Given the description of an element on the screen output the (x, y) to click on. 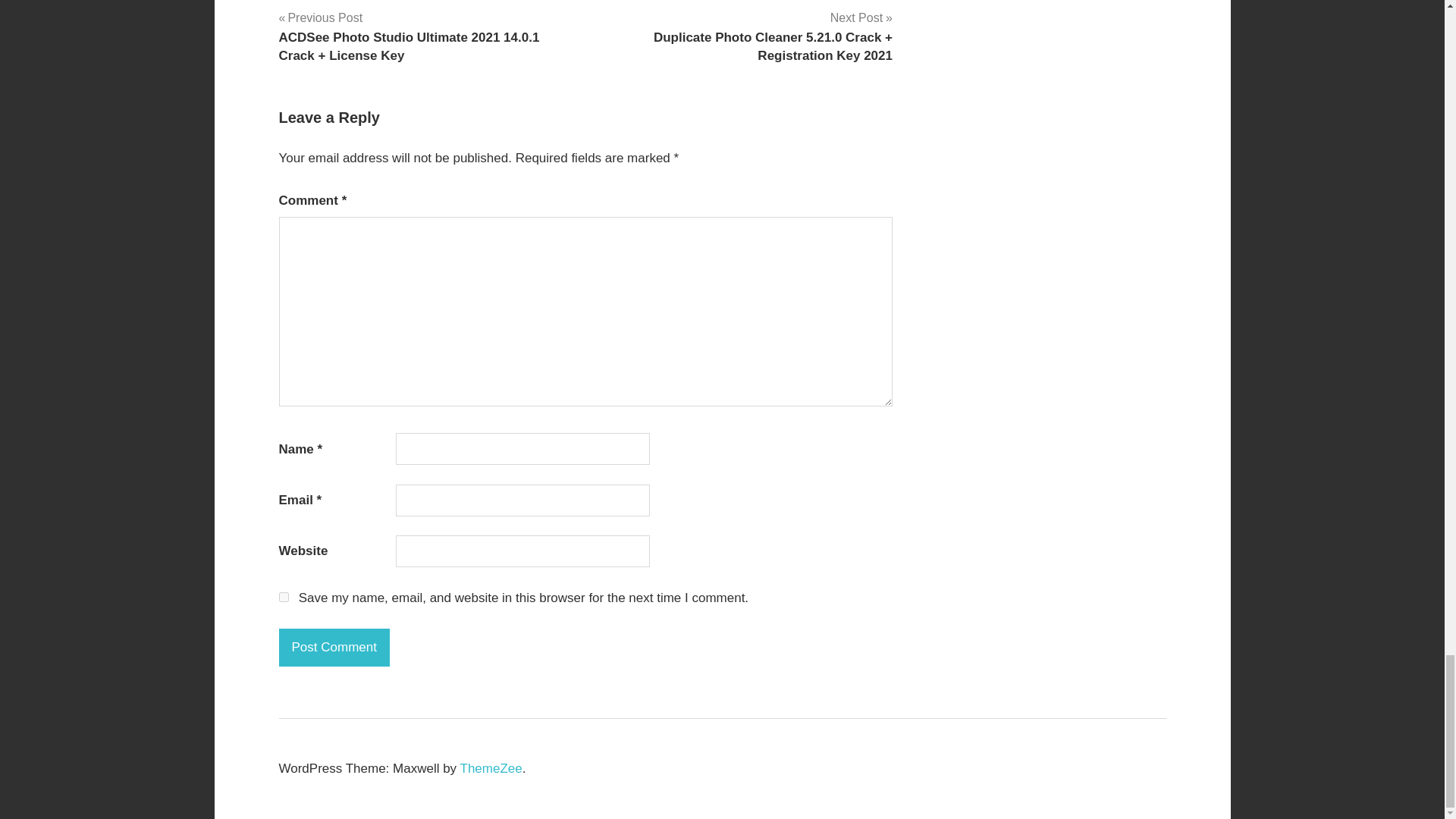
Post Comment (334, 647)
ThemeZee (491, 768)
yes (283, 596)
Post Comment (334, 647)
